Given the description of an element on the screen output the (x, y) to click on. 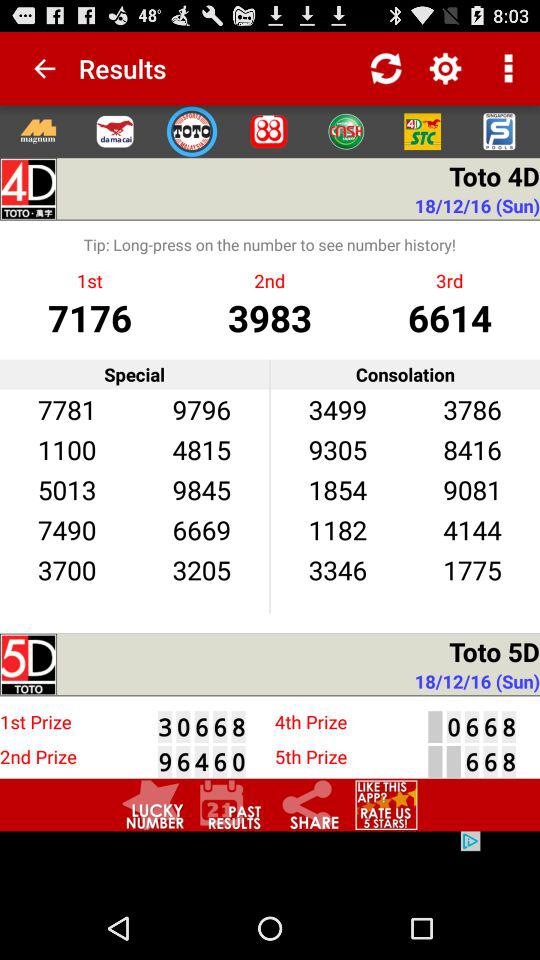
select item next to the 9796 (66, 408)
